Given the description of an element on the screen output the (x, y) to click on. 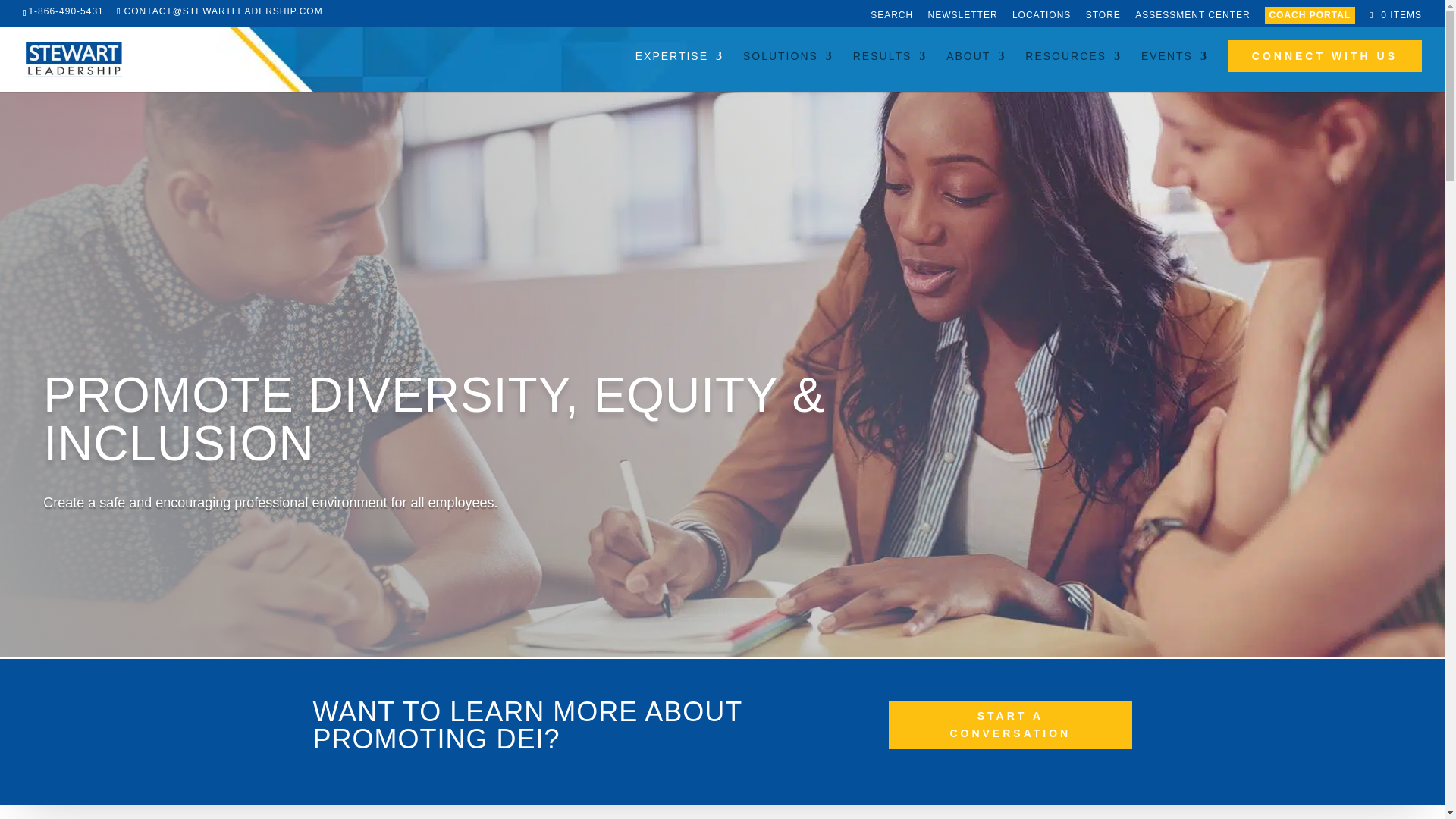
1-866-490-5431 (65, 10)
LOCATIONS (1040, 18)
0 ITEMS (1394, 14)
ASSESSMENT CENTER (1192, 18)
STORE (1103, 18)
EXPERTISE (678, 68)
NEWSLETTER (962, 18)
SEARCH (891, 18)
SOLUTIONS (787, 68)
COACH PORTAL (1310, 15)
